Given the description of an element on the screen output the (x, y) to click on. 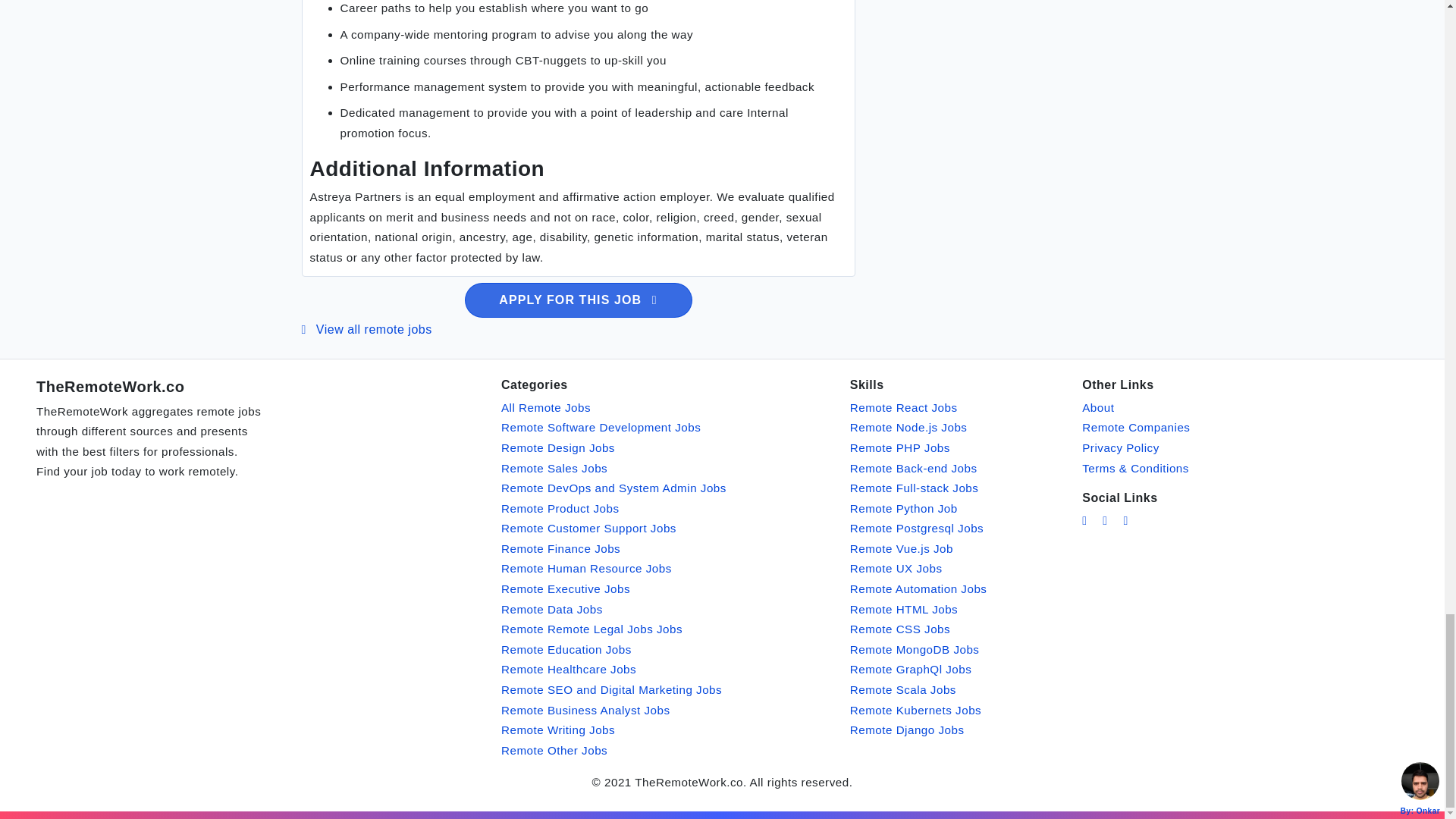
Click to apply for the remote job (577, 299)
APPLY FOR THIS JOB (577, 299)
Remote Product Jobs (560, 508)
All Remote Jobs (545, 407)
Remote DevOps and System Admin Jobs (613, 487)
Remote Design Jobs (557, 447)
View all remote jobs (366, 328)
Remote Software Development Jobs (600, 427)
Remote Sales Jobs (553, 467)
